Given the description of an element on the screen output the (x, y) to click on. 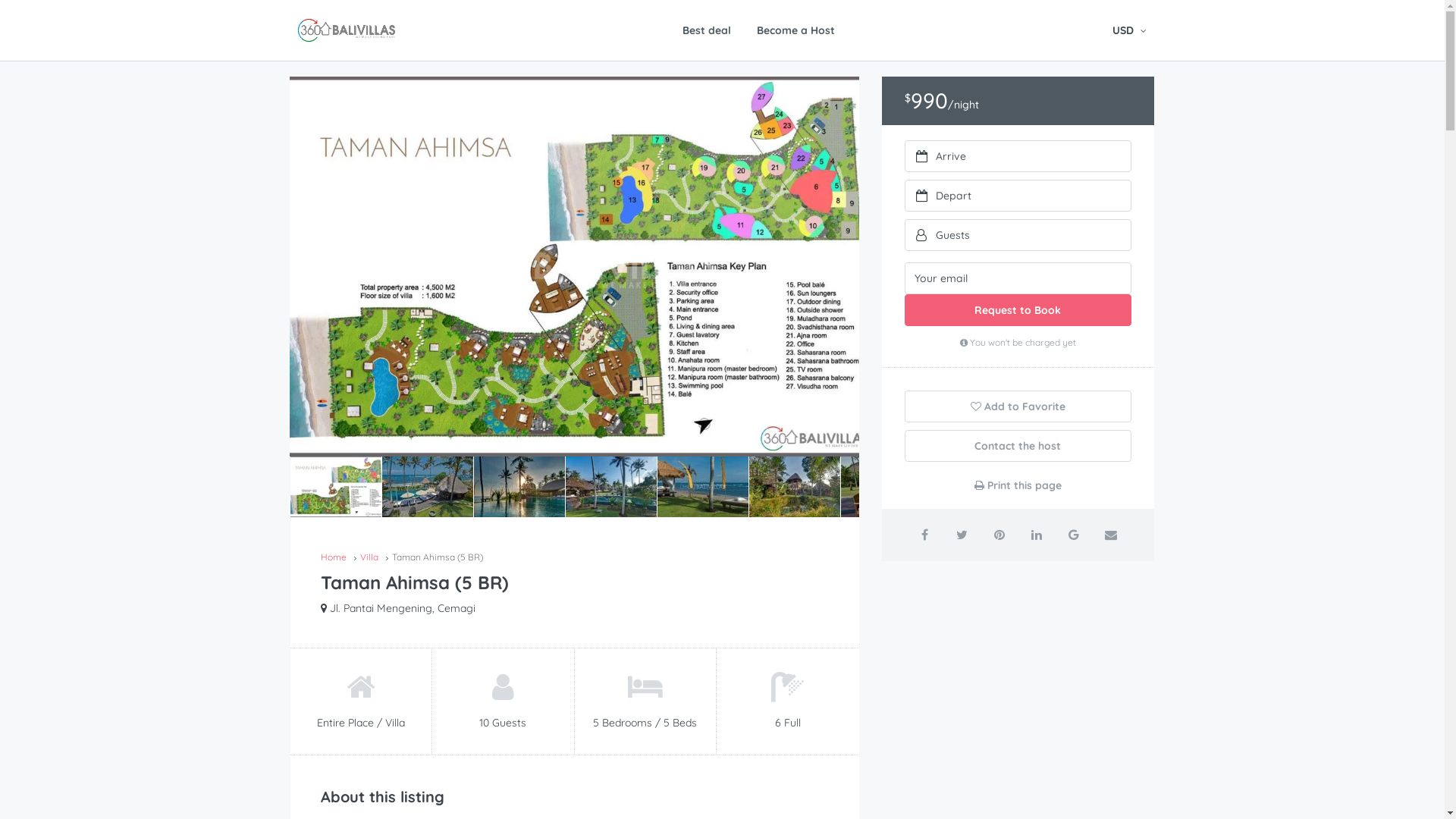
USD Element type: text (1128, 29)
Best deal Element type: text (706, 30)
Request to Book Element type: text (1017, 310)
Become a Host Element type: text (795, 30)
360 Bali Villas - What you see is what you get Element type: hover (345, 29)
Villa Element type: text (368, 556)
Add to Favorite Element type: text (1017, 406)
Print this page Element type: text (1017, 485)
Home Element type: text (332, 556)
Contact the host Element type: text (1017, 445)
